Given the description of an element on the screen output the (x, y) to click on. 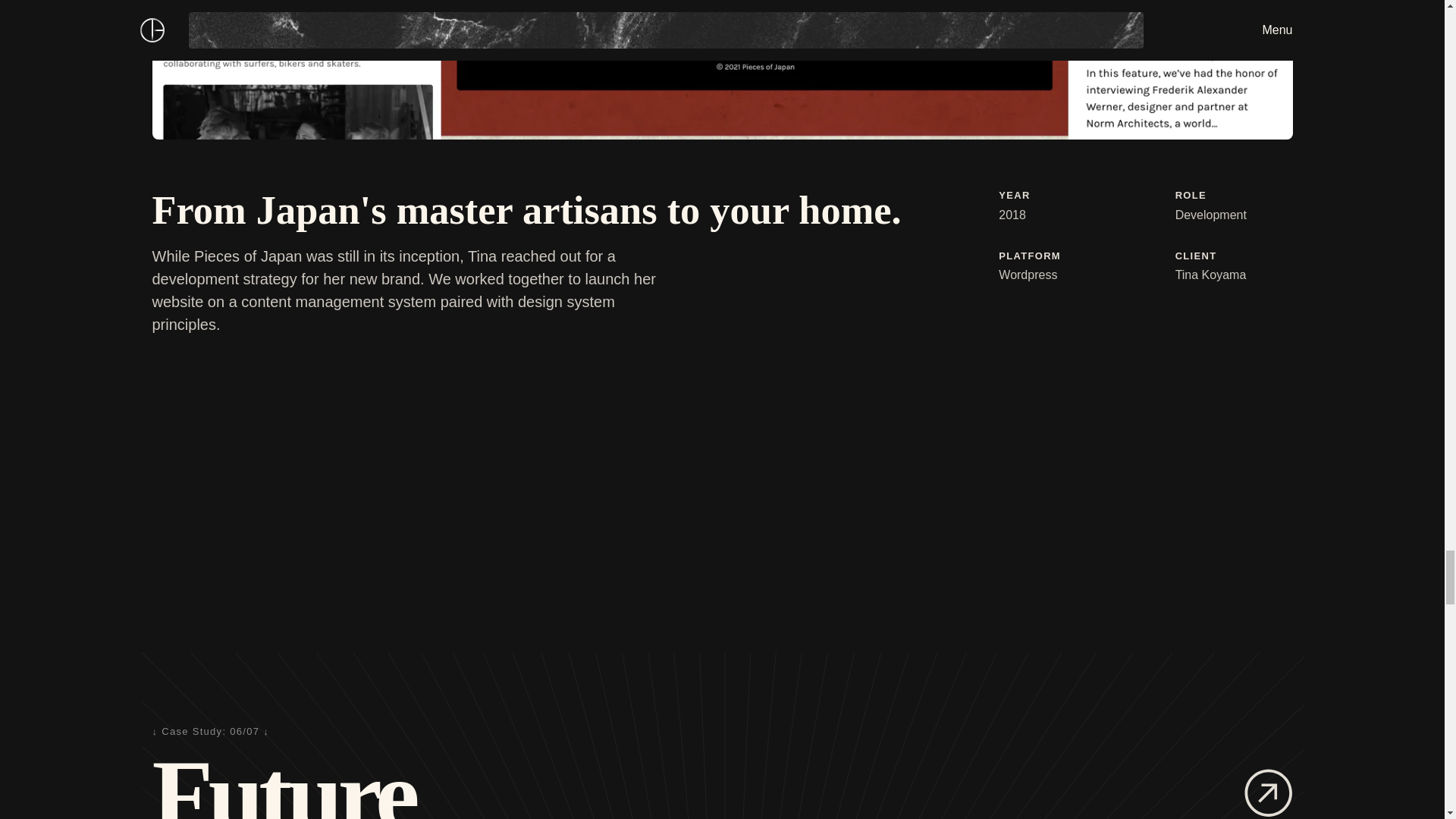
View Project: Future (1267, 793)
